Given the description of an element on the screen output the (x, y) to click on. 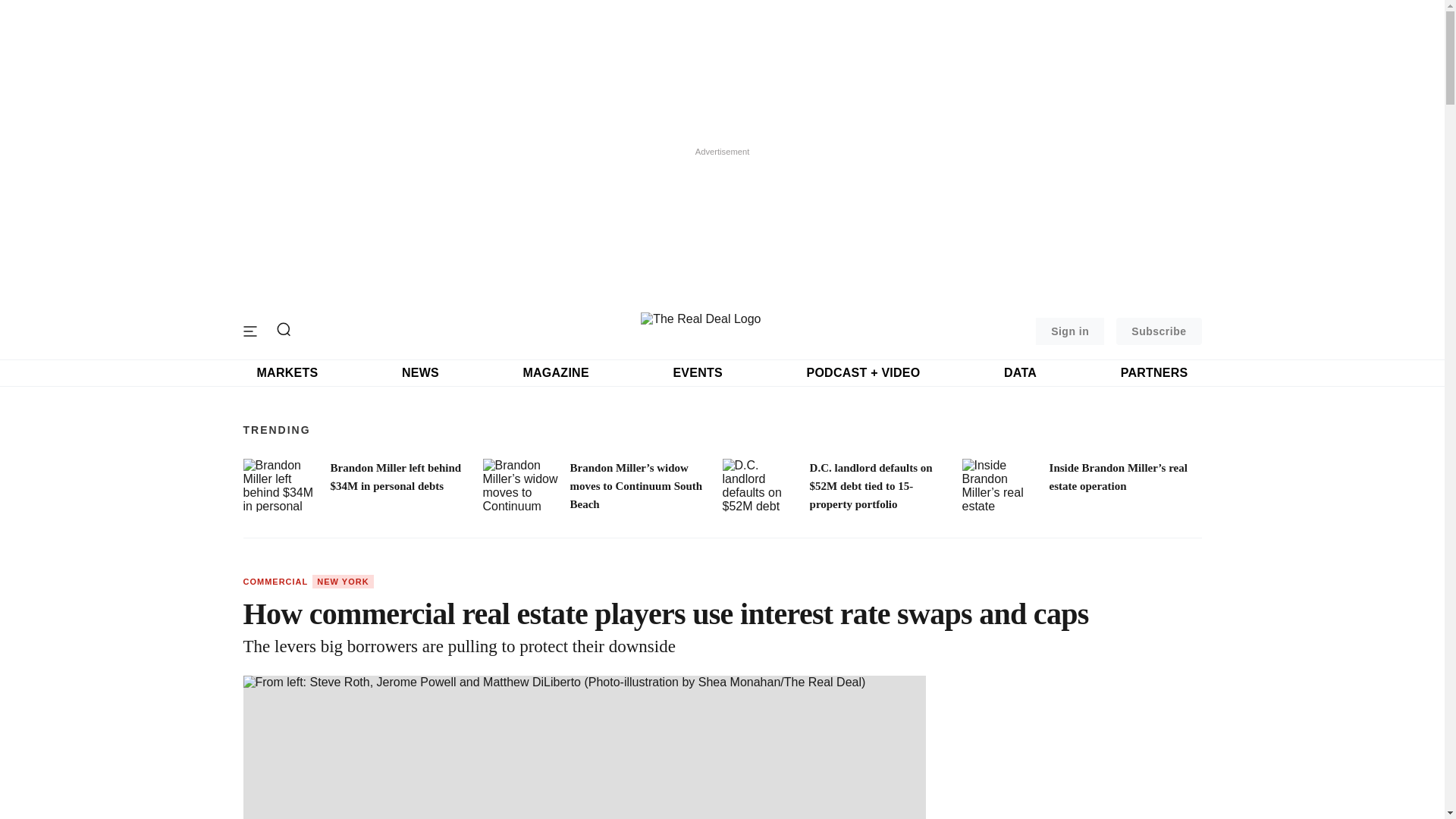
Sign in (1069, 330)
MAGAZINE (555, 373)
MARKETS (286, 373)
NEWS (420, 373)
EVENTS (697, 373)
Subscribe (1158, 330)
